Given the description of an element on the screen output the (x, y) to click on. 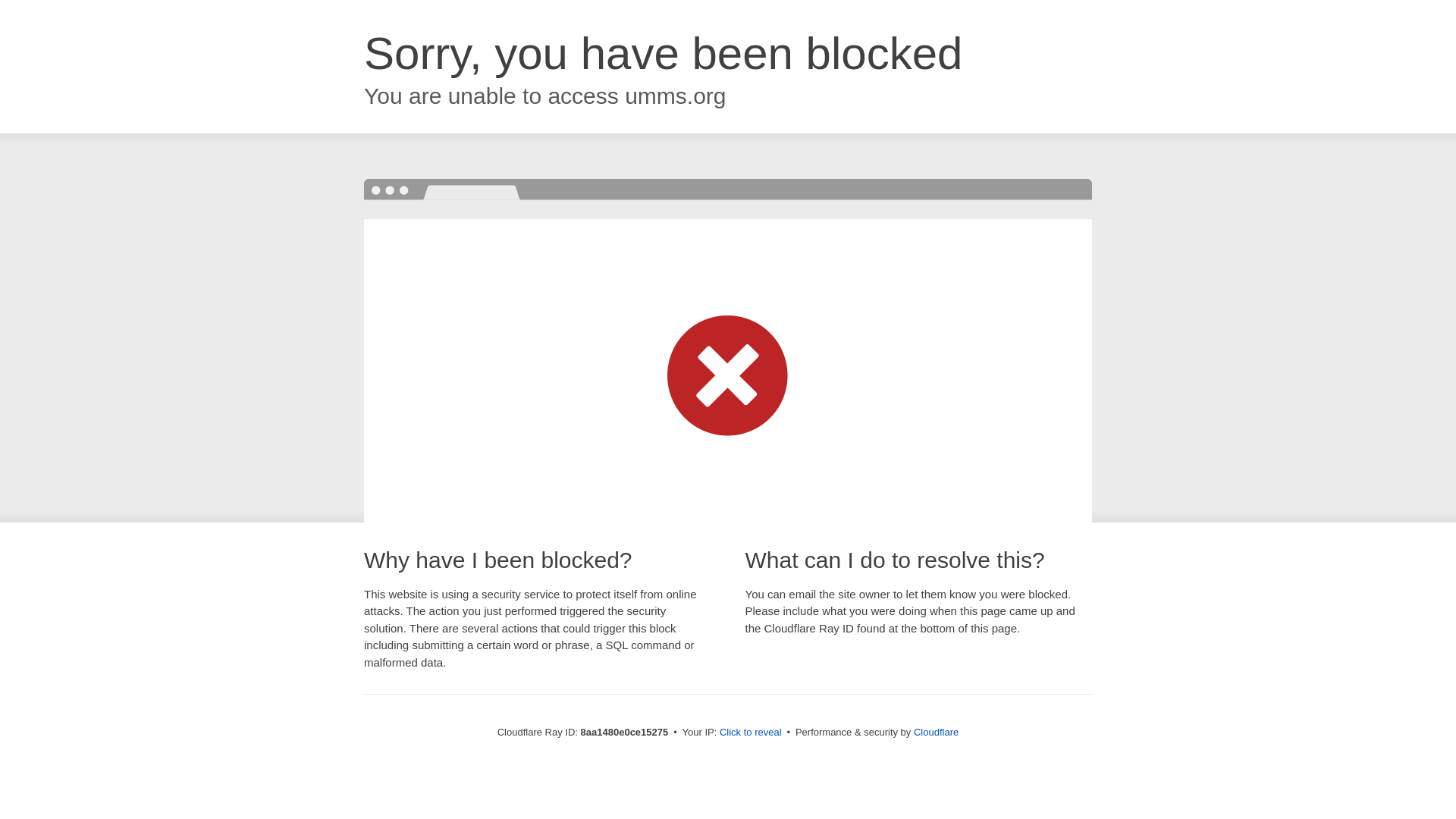
Click to reveal (750, 732)
Cloudflare (936, 731)
